Given the description of an element on the screen output the (x, y) to click on. 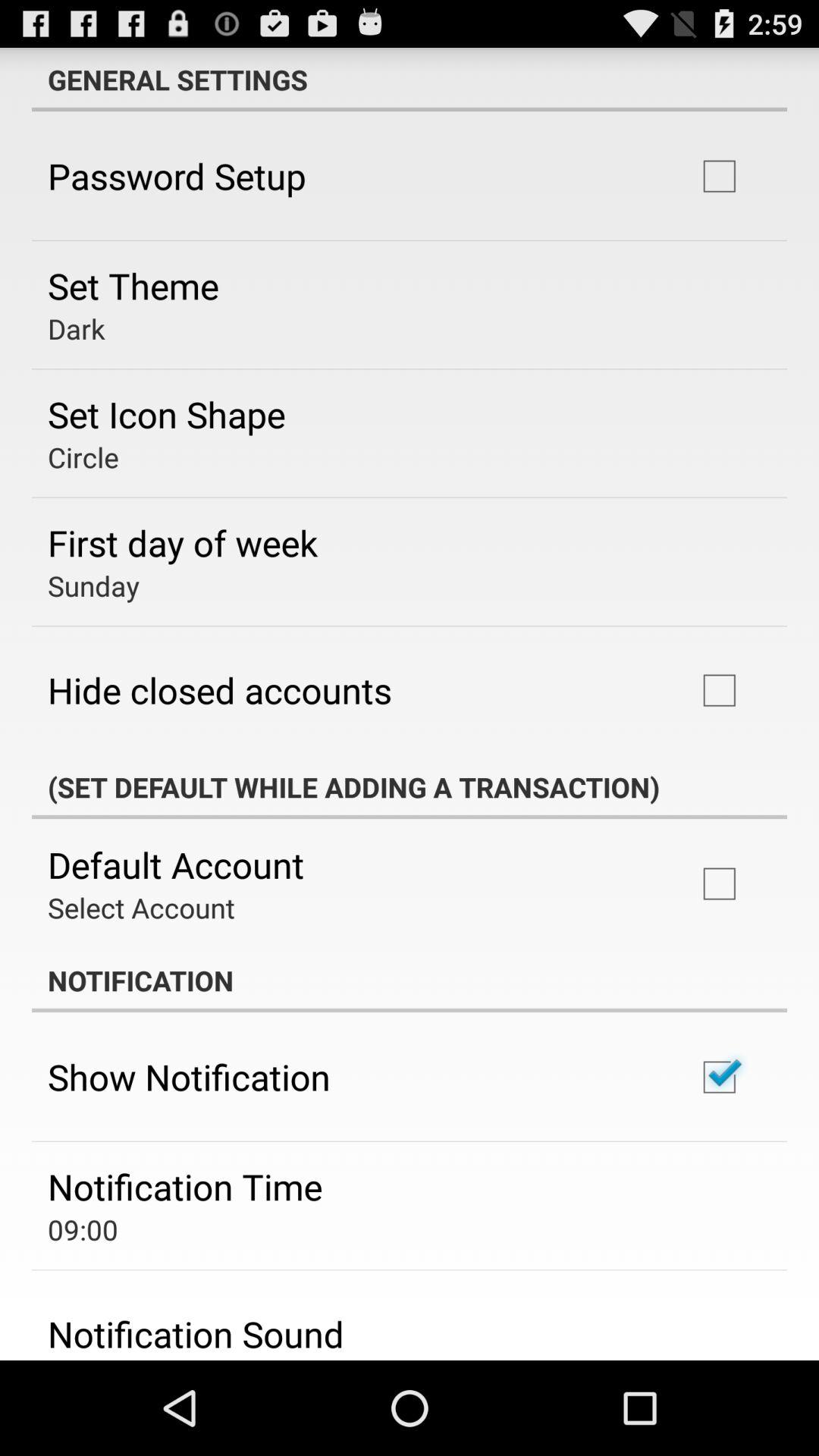
launch hide closed accounts icon (219, 690)
